Given the description of an element on the screen output the (x, y) to click on. 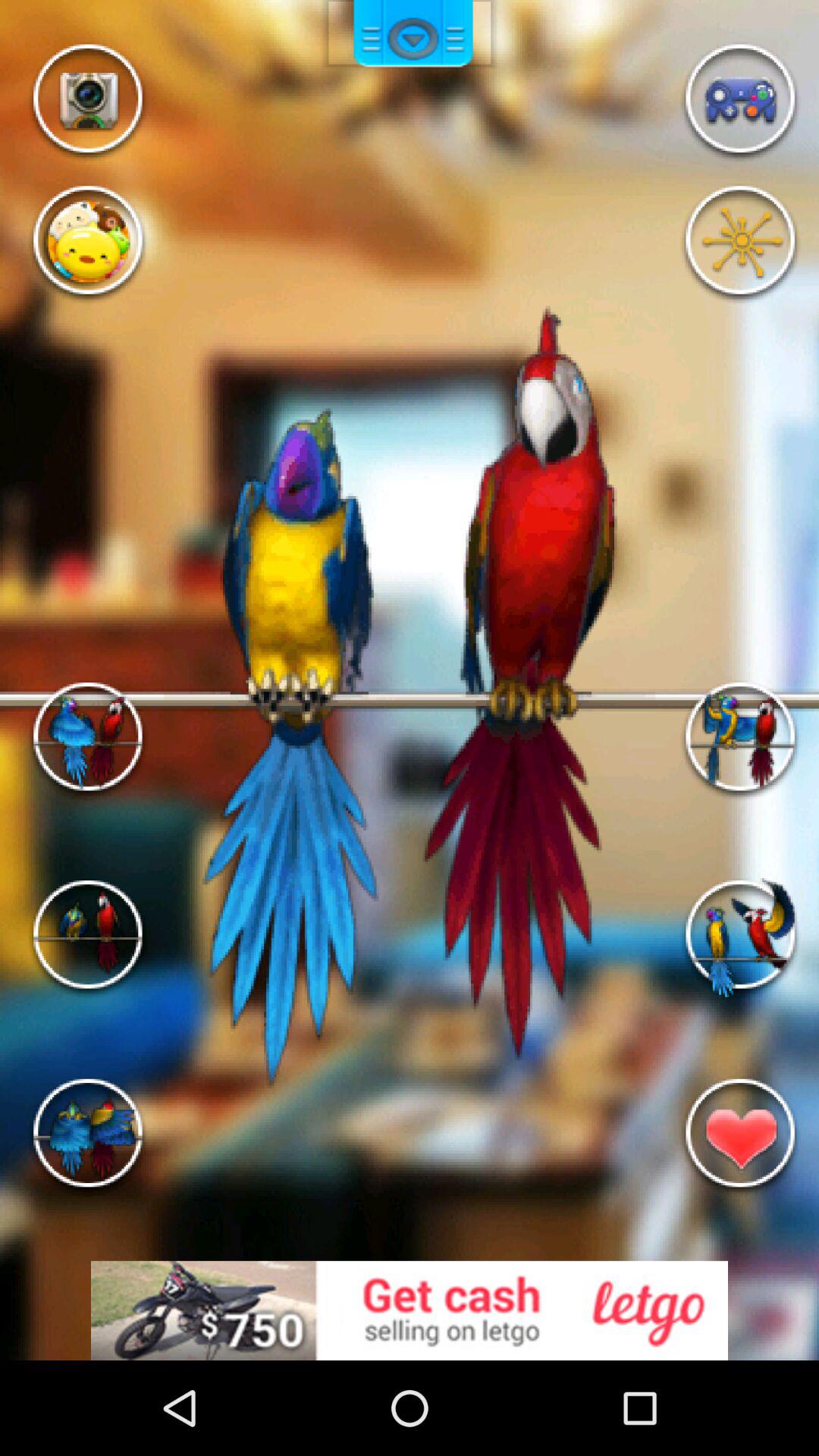
open advertisement (409, 1310)
